Given the description of an element on the screen output the (x, y) to click on. 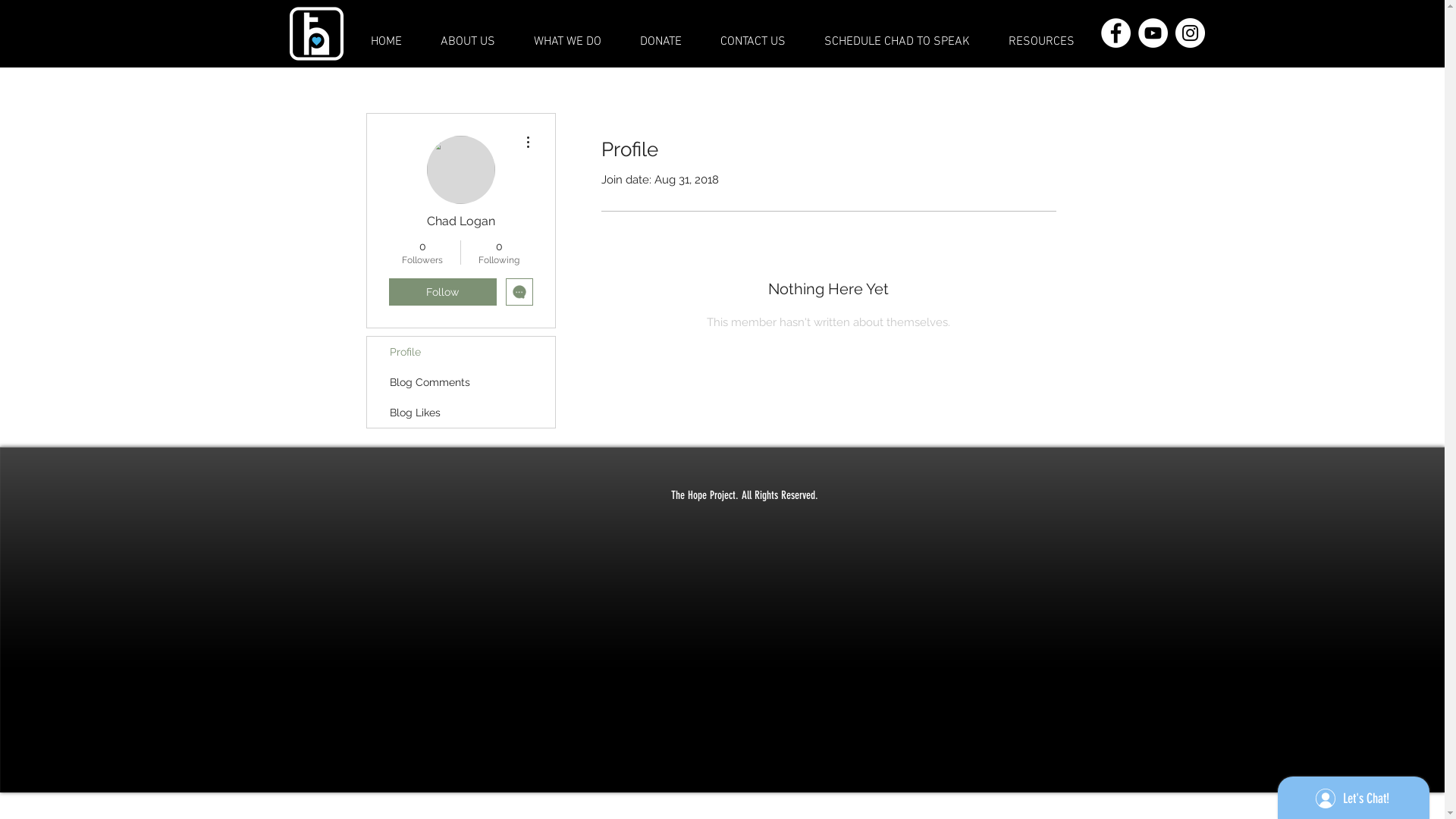
RESOURCES Element type: text (1040, 41)
Blog Comments Element type: text (461, 382)
SCHEDULE CHAD TO SPEAK Element type: text (897, 41)
0
Following Element type: text (499, 252)
WHAT WE DO Element type: text (567, 41)
HOME Element type: text (385, 41)
DONATE Element type: text (660, 41)
Blog Likes Element type: text (461, 412)
0
Followers Element type: text (421, 252)
Follow Element type: text (441, 291)
Profile Element type: text (461, 351)
CONTACT US Element type: text (752, 41)
